Given the description of an element on the screen output the (x, y) to click on. 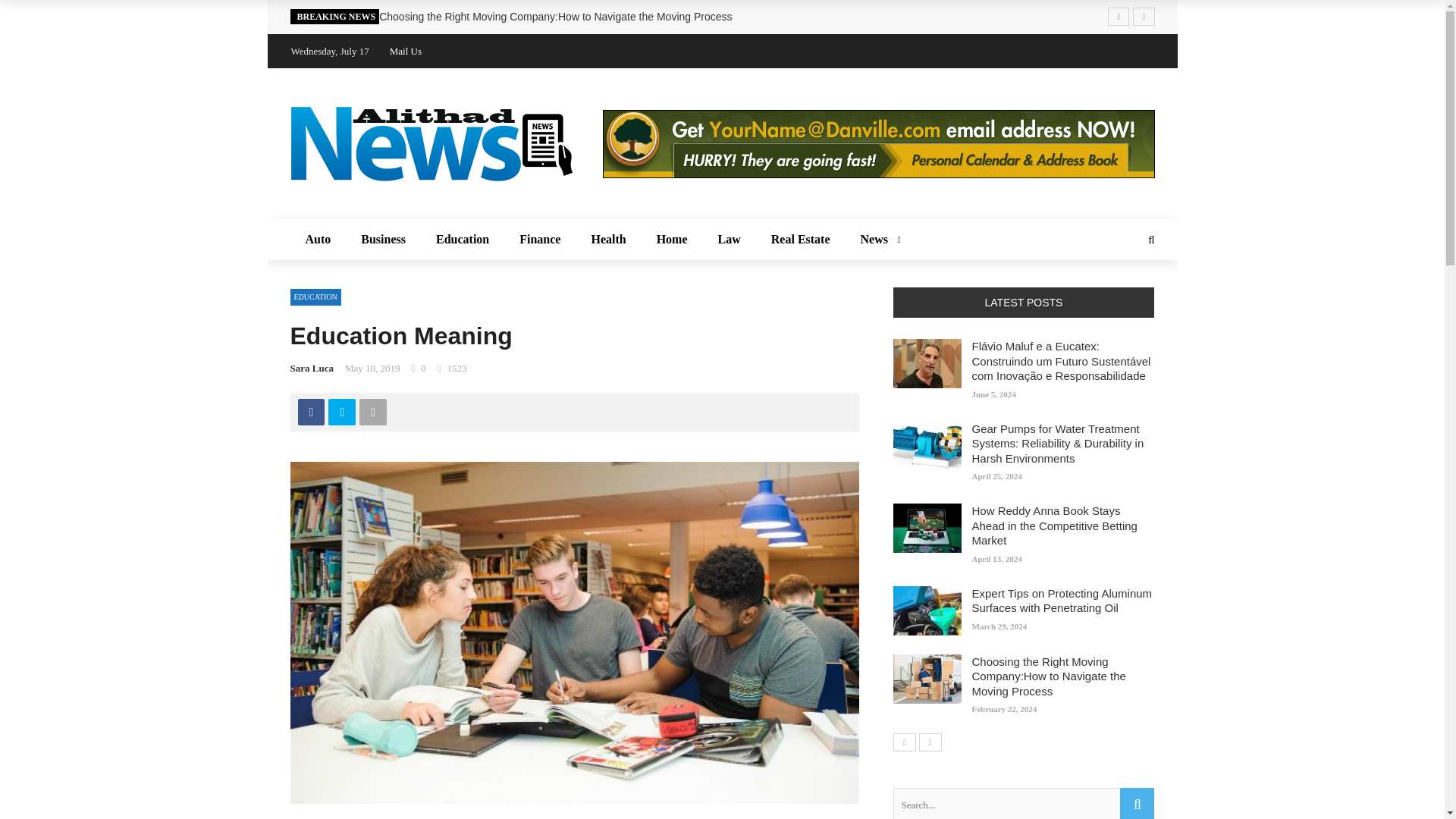
Auto (317, 239)
Business (383, 239)
Mail Us (406, 50)
Home (672, 239)
Next (930, 742)
Health (607, 239)
Previous (904, 742)
Real Estate (800, 239)
Finance (539, 239)
Law (729, 239)
Education (461, 239)
News (878, 239)
